Given the description of an element on the screen output the (x, y) to click on. 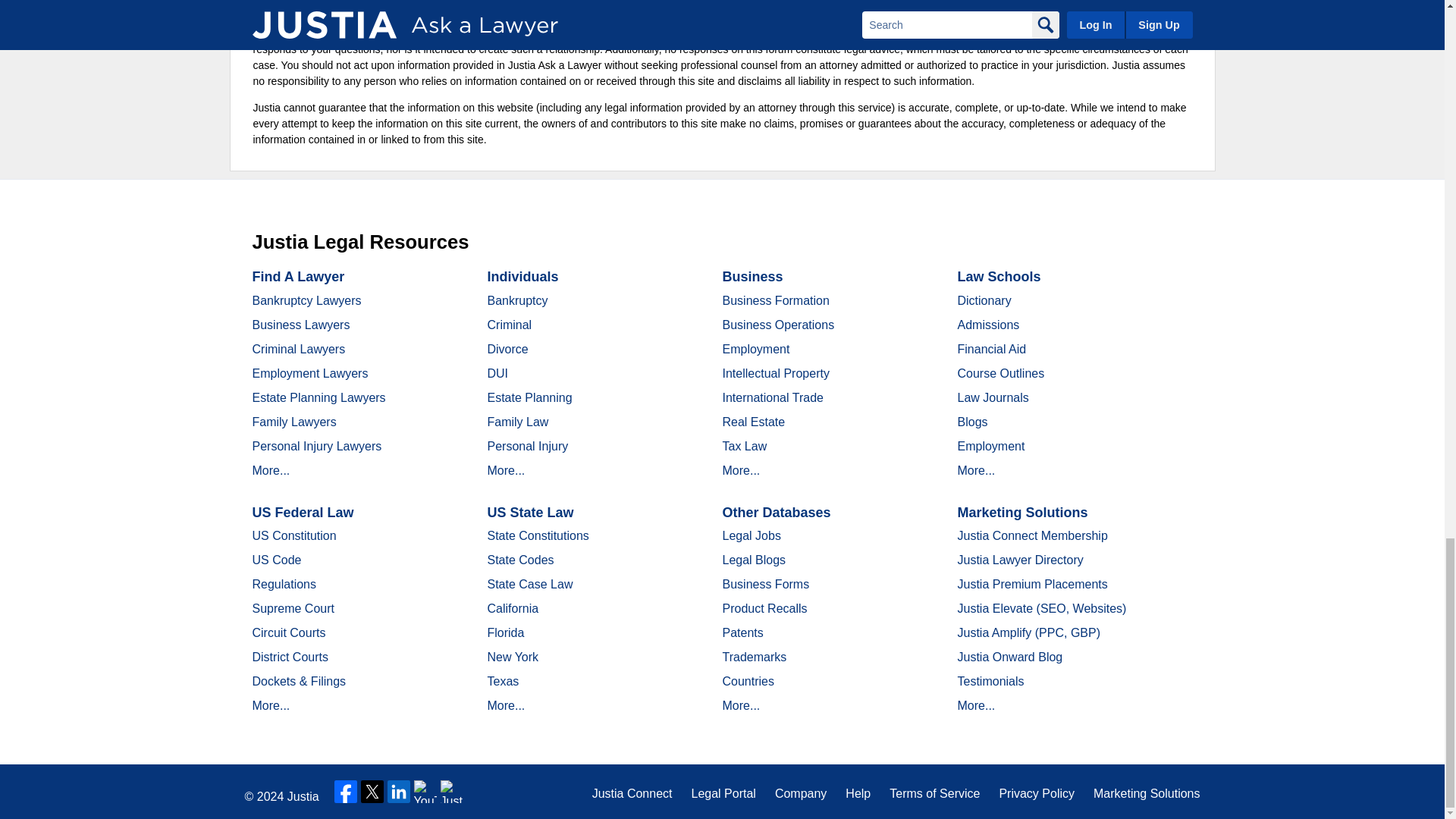
YouTube (424, 791)
Facebook (345, 791)
Twitter (372, 791)
Justia Lawyer Directory (452, 791)
LinkedIn (398, 791)
